Given the description of an element on the screen output the (x, y) to click on. 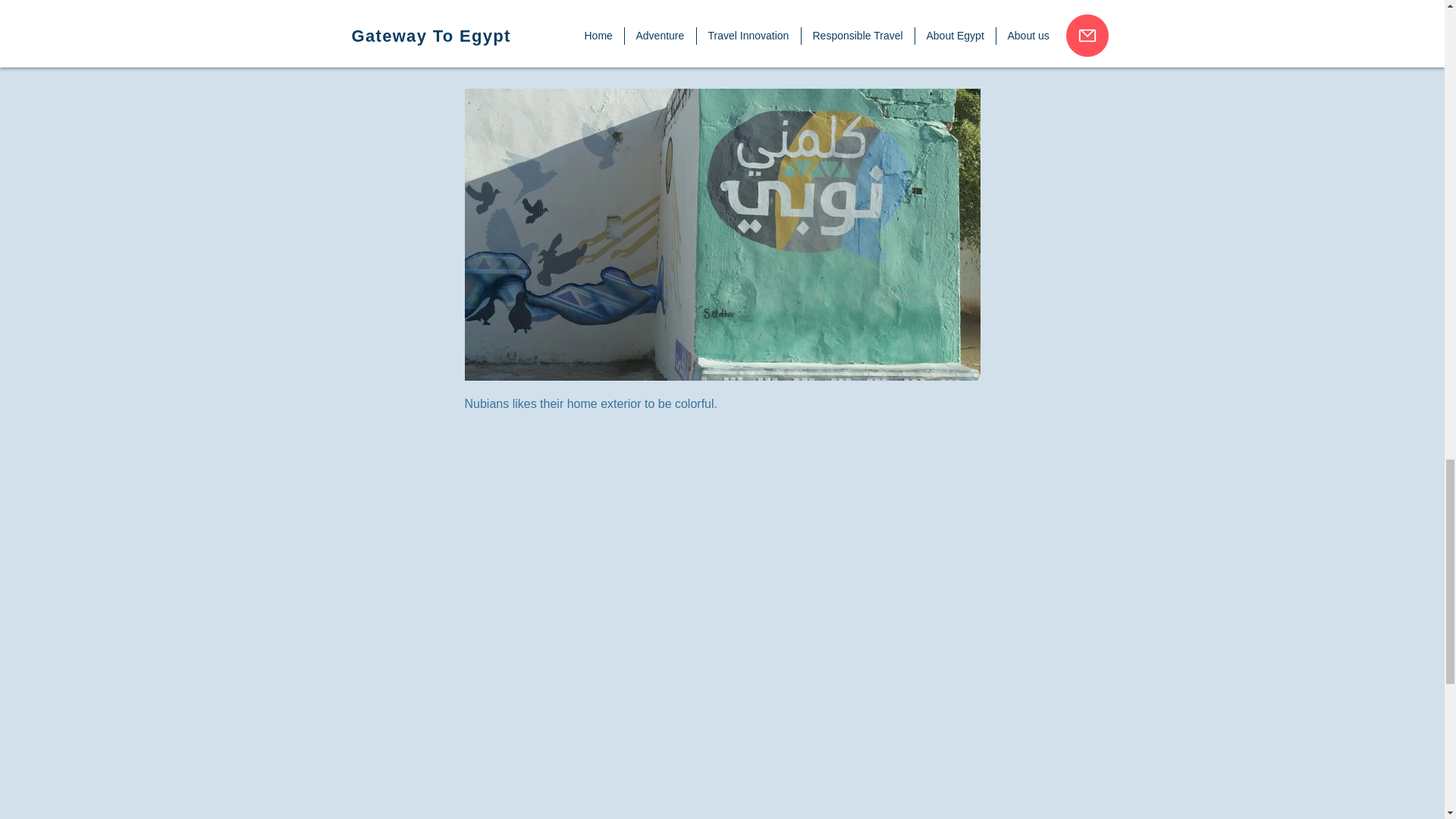
Aswan (721, 6)
